Given the description of an element on the screen output the (x, y) to click on. 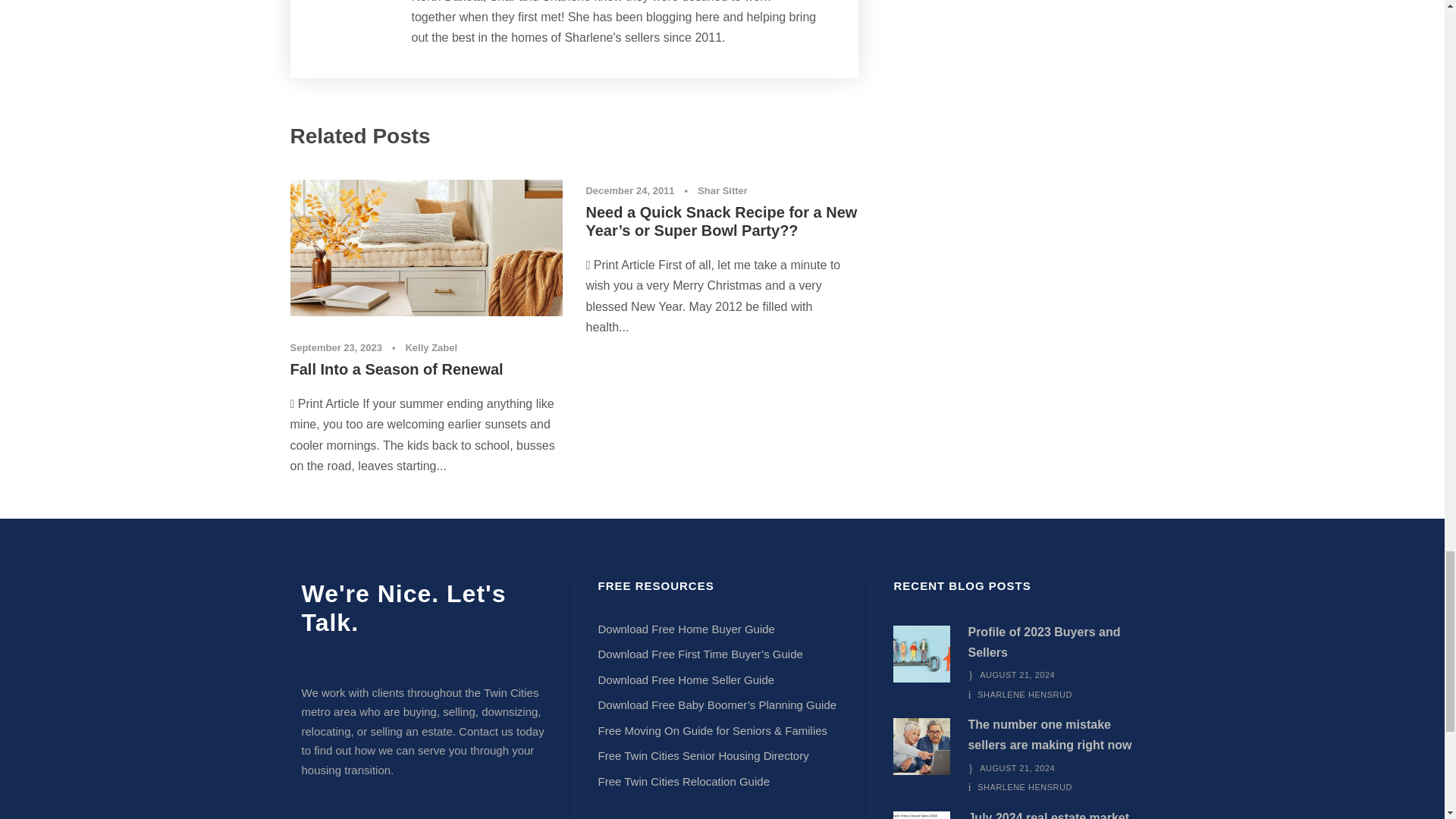
Posts by Sharlene Hensrud (1023, 786)
Feature Photo 9 20 23 (425, 247)
Posts by Shar Sitter (722, 190)
2024-07-closed sales by month (921, 815)
Posts by Kelly Zabel (430, 347)
Posts by Sharlene Hensrud (1023, 694)
one key many buyers (921, 653)
couple-at computer (921, 746)
